Given the description of an element on the screen output the (x, y) to click on. 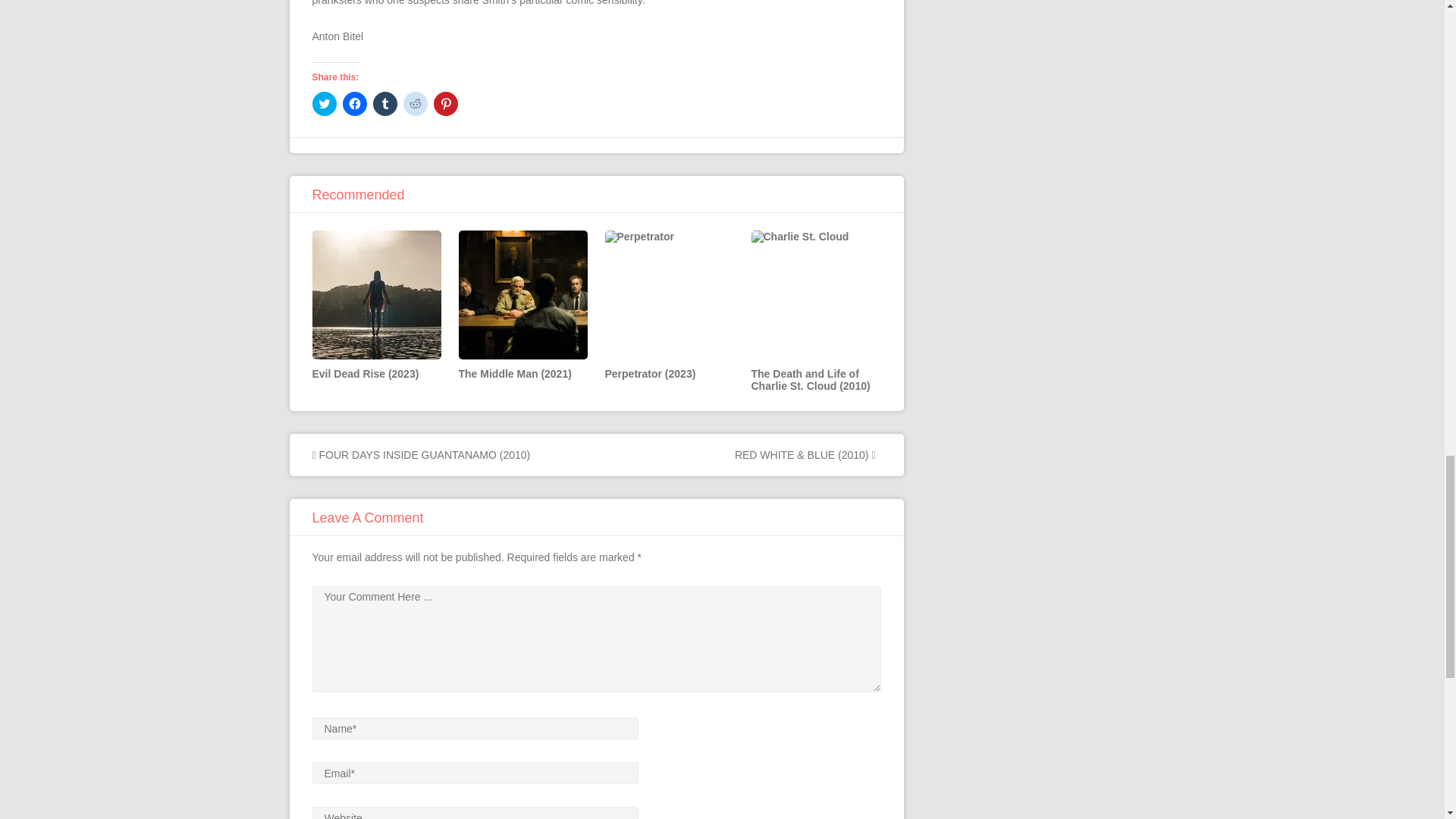
Click to share on Reddit (415, 103)
Click to share on Tumblr (384, 103)
Click to share on Twitter (324, 103)
Click to share on Pinterest (445, 103)
Click to share on Facebook (354, 103)
